Given the description of an element on the screen output the (x, y) to click on. 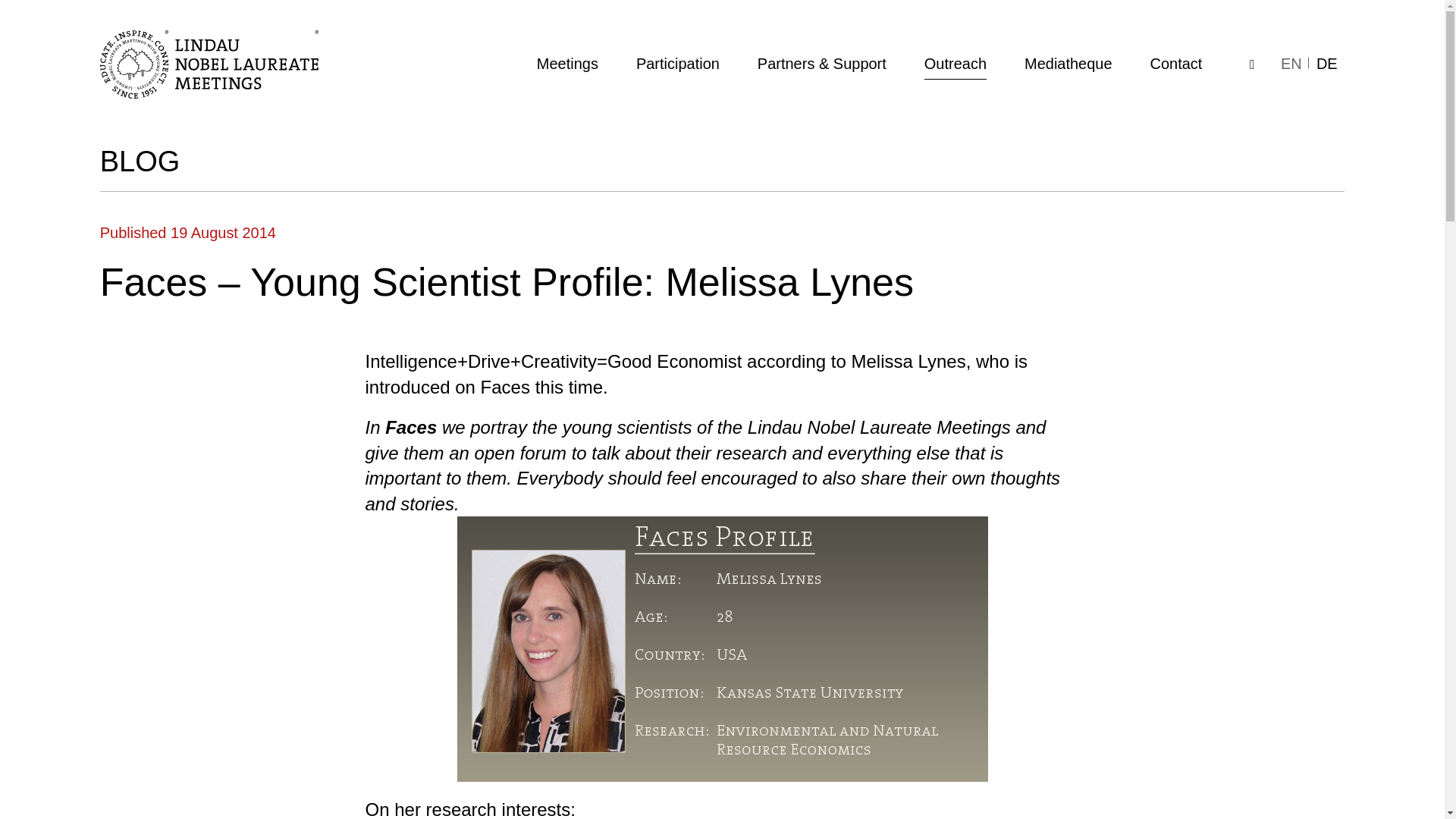
Mediatheque (1068, 63)
Outreach (955, 63)
Participation (677, 63)
Meetings (567, 63)
